Given the description of an element on the screen output the (x, y) to click on. 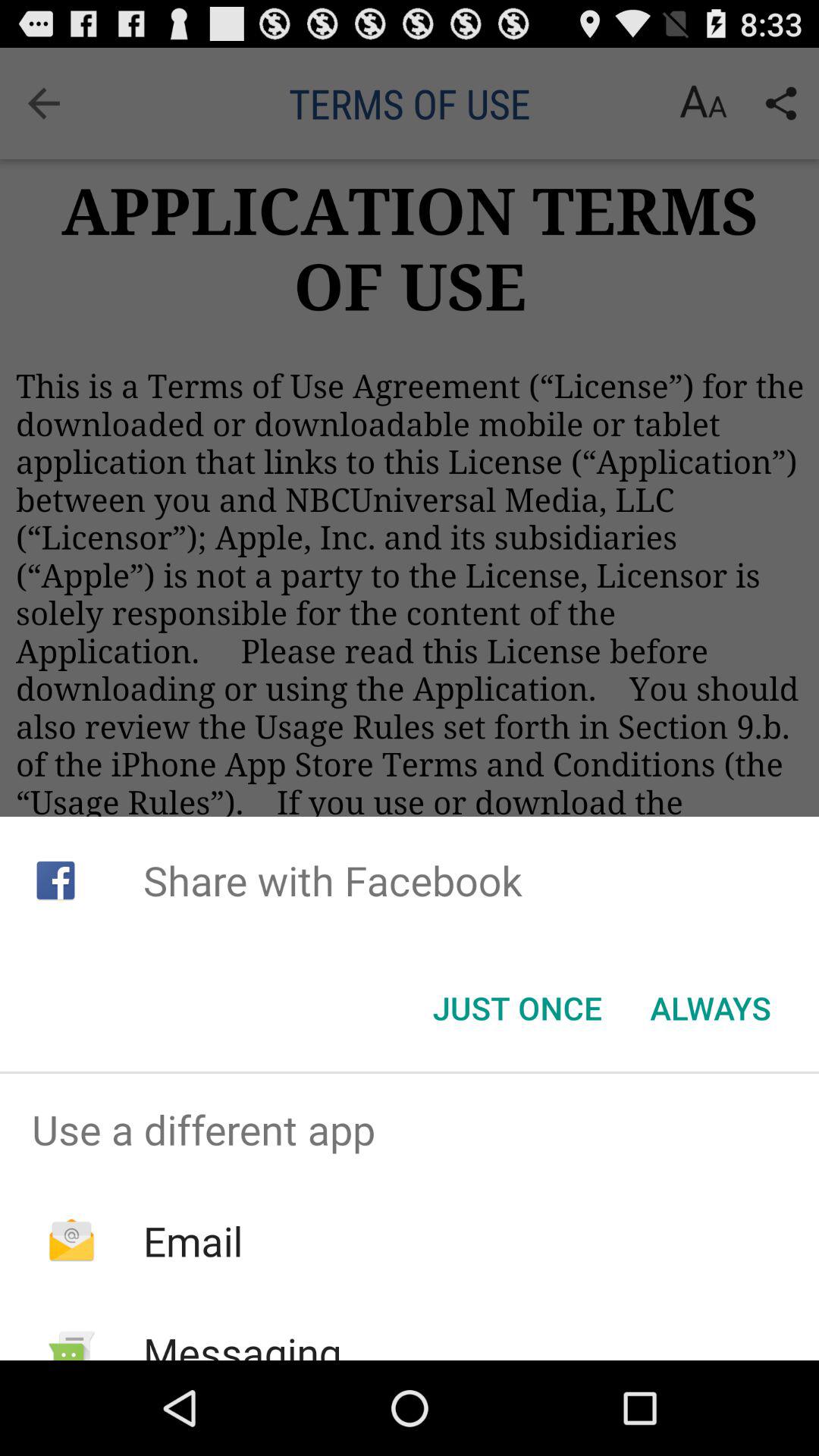
choose item below the email app (242, 1342)
